Given the description of an element on the screen output the (x, y) to click on. 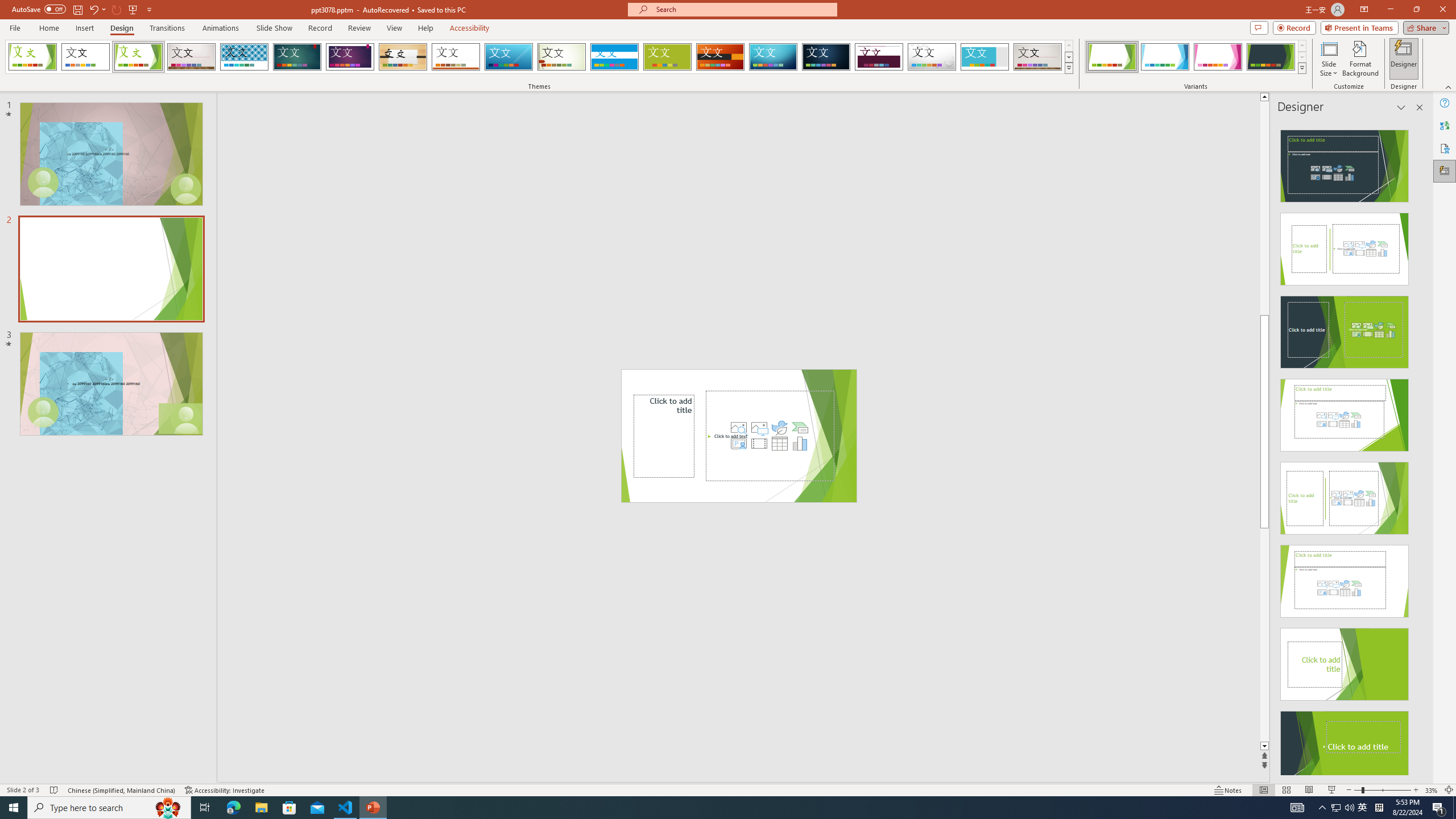
Themes (1068, 67)
Wisp (561, 56)
Facet Variant 2 (1164, 56)
Dividend (879, 56)
